Given the description of an element on the screen output the (x, y) to click on. 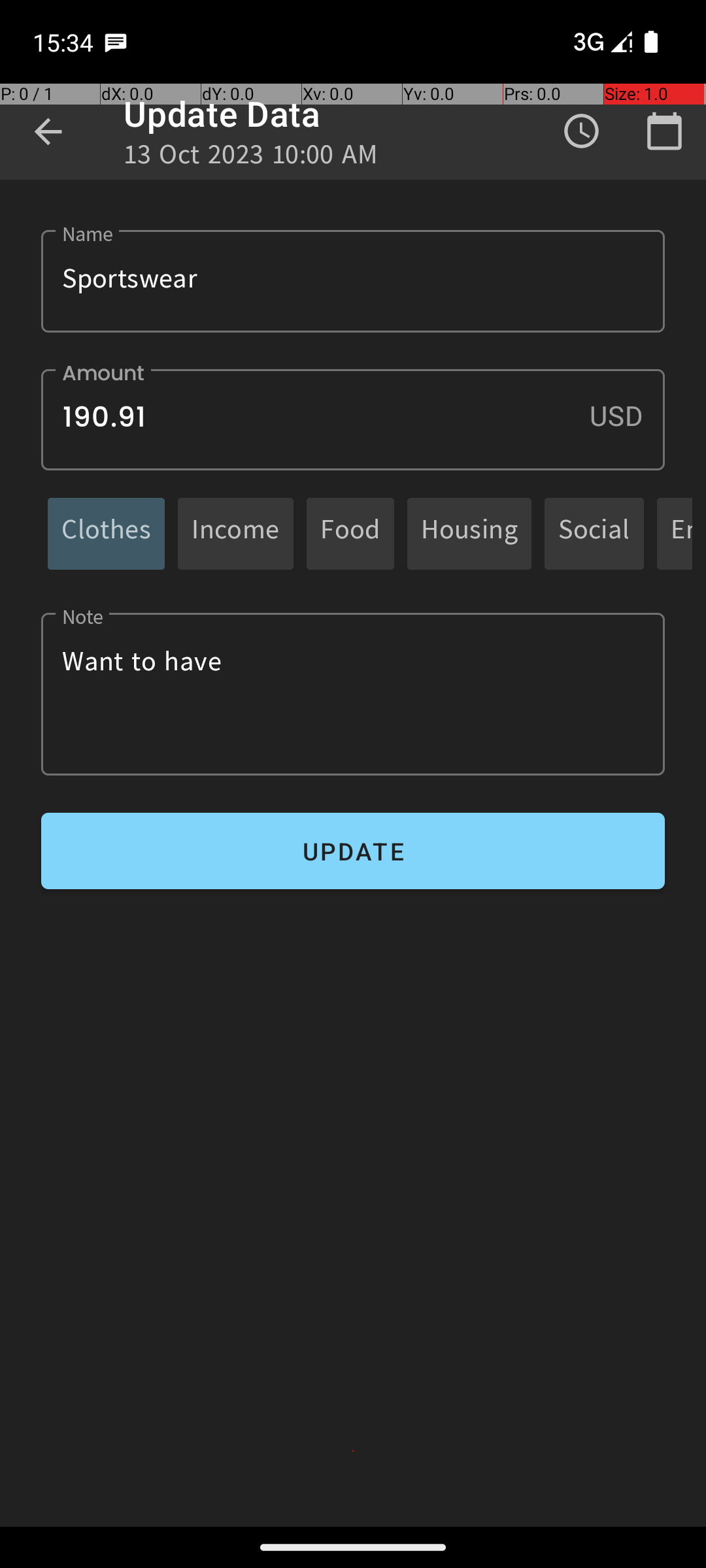
13 Oct 2023 10:00 AM Element type: android.widget.TextView (250, 157)
Sportswear Element type: android.widget.EditText (352, 280)
190.91 Element type: android.widget.EditText (352, 419)
Clothes Element type: android.widget.TextView (106, 533)
SMS Messenger notification: Martin Chen Element type: android.widget.ImageView (115, 41)
